Given the description of an element on the screen output the (x, y) to click on. 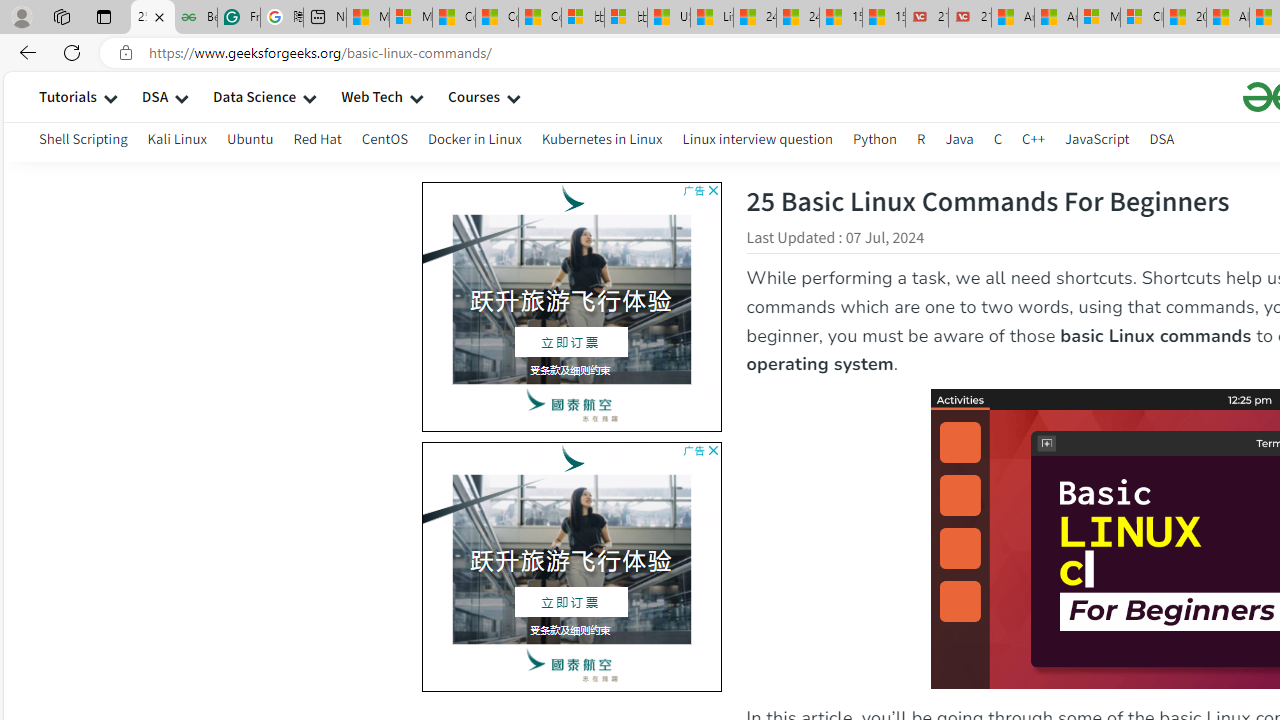
21 Movies That Outdid the Books They Were Based On (969, 17)
Java (959, 138)
Red Hat (317, 138)
Ubuntu (250, 138)
Shell Scripting (83, 142)
AutomationID: bg4 (275, 561)
JavaScript (1097, 138)
